Given the description of an element on the screen output the (x, y) to click on. 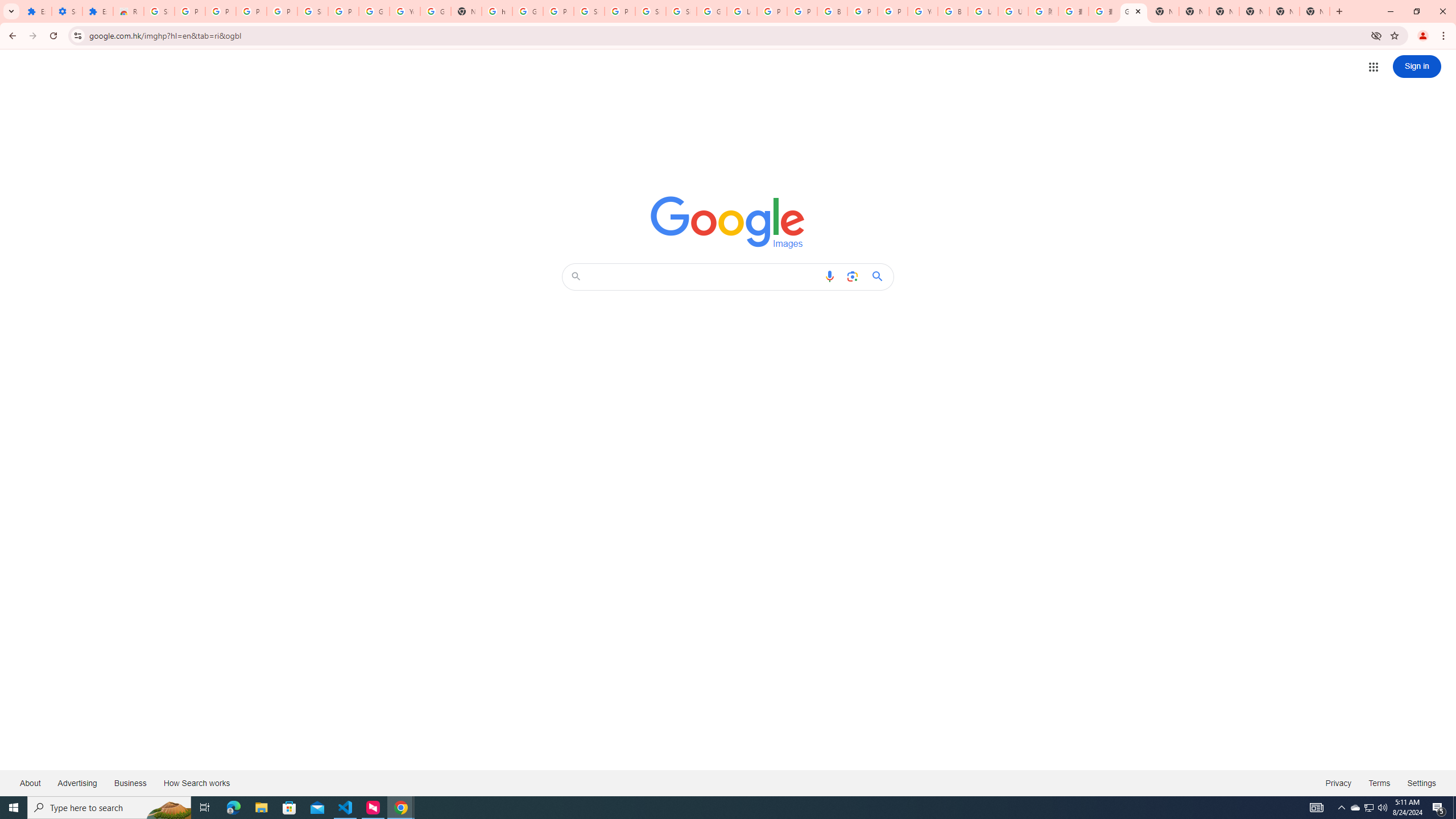
Reviews: Helix Fruit Jump Arcade Game (127, 11)
Google Account (373, 11)
Sign in - Google Accounts (681, 11)
